Given the description of an element on the screen output the (x, y) to click on. 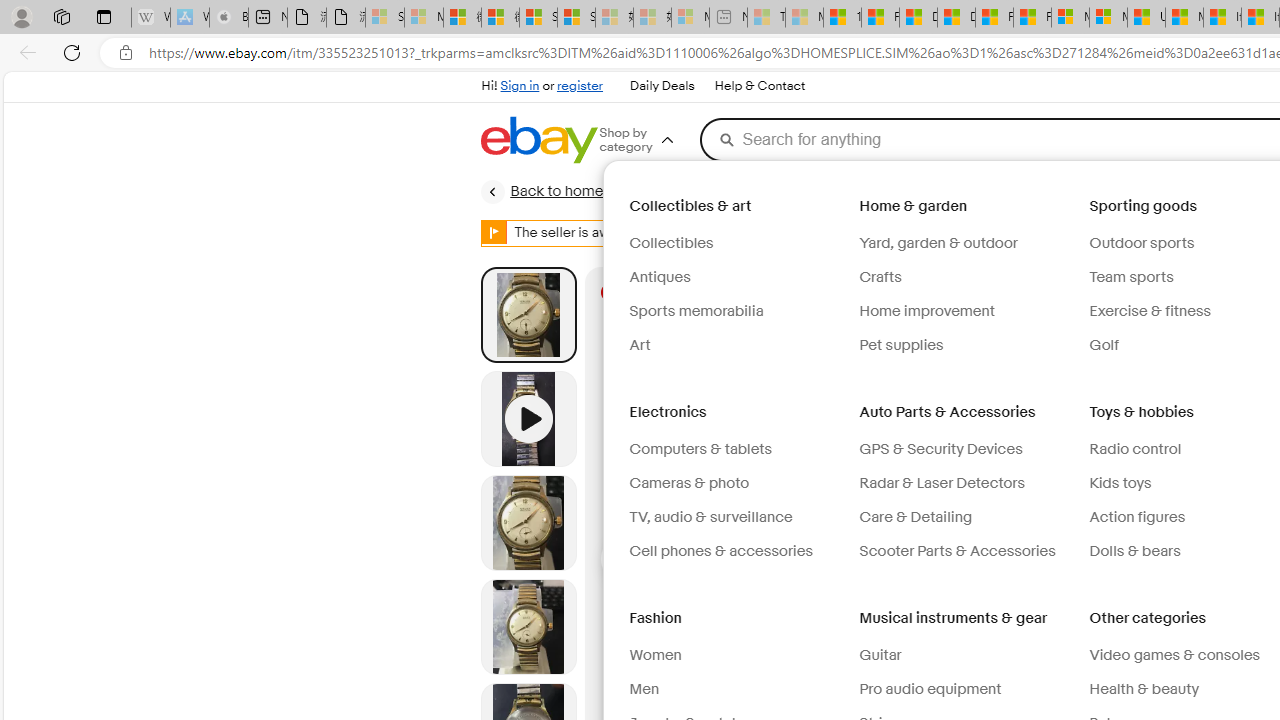
Art (639, 345)
Sports memorabilia (736, 312)
Fashion (656, 618)
Care & Detailing (915, 516)
Cameras & photo (688, 483)
Wristwatches (1174, 191)
Daily Deals (661, 85)
Radio control (1135, 449)
eBay Home (538, 139)
